Given the description of an element on the screen output the (x, y) to click on. 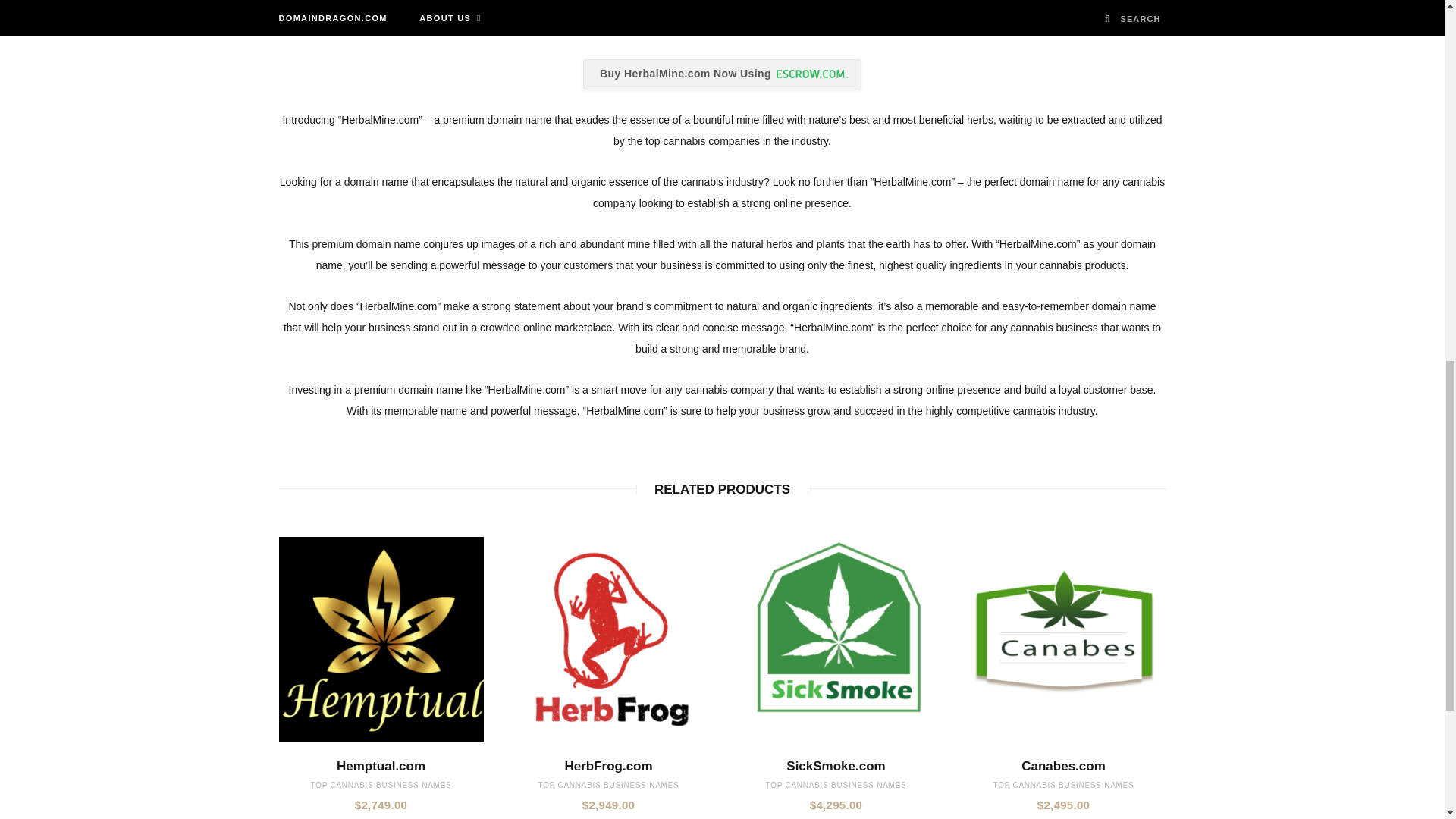
Hemptual.com (381, 766)
Canabes.com (1063, 766)
DESCRIPTION (727, 8)
TOP CANNABIS BUSINESS NAMES (836, 785)
TOP CANNABIS BUSINESS NAMES (381, 785)
SickSmoke.com (836, 766)
TOP CANNABIS BUSINESS NAMES (608, 785)
HerbFrog.com (608, 766)
Buy HerbalMine.com Now Using (722, 73)
TOP CANNABIS BUSINESS NAMES (1063, 785)
